Given the description of an element on the screen output the (x, y) to click on. 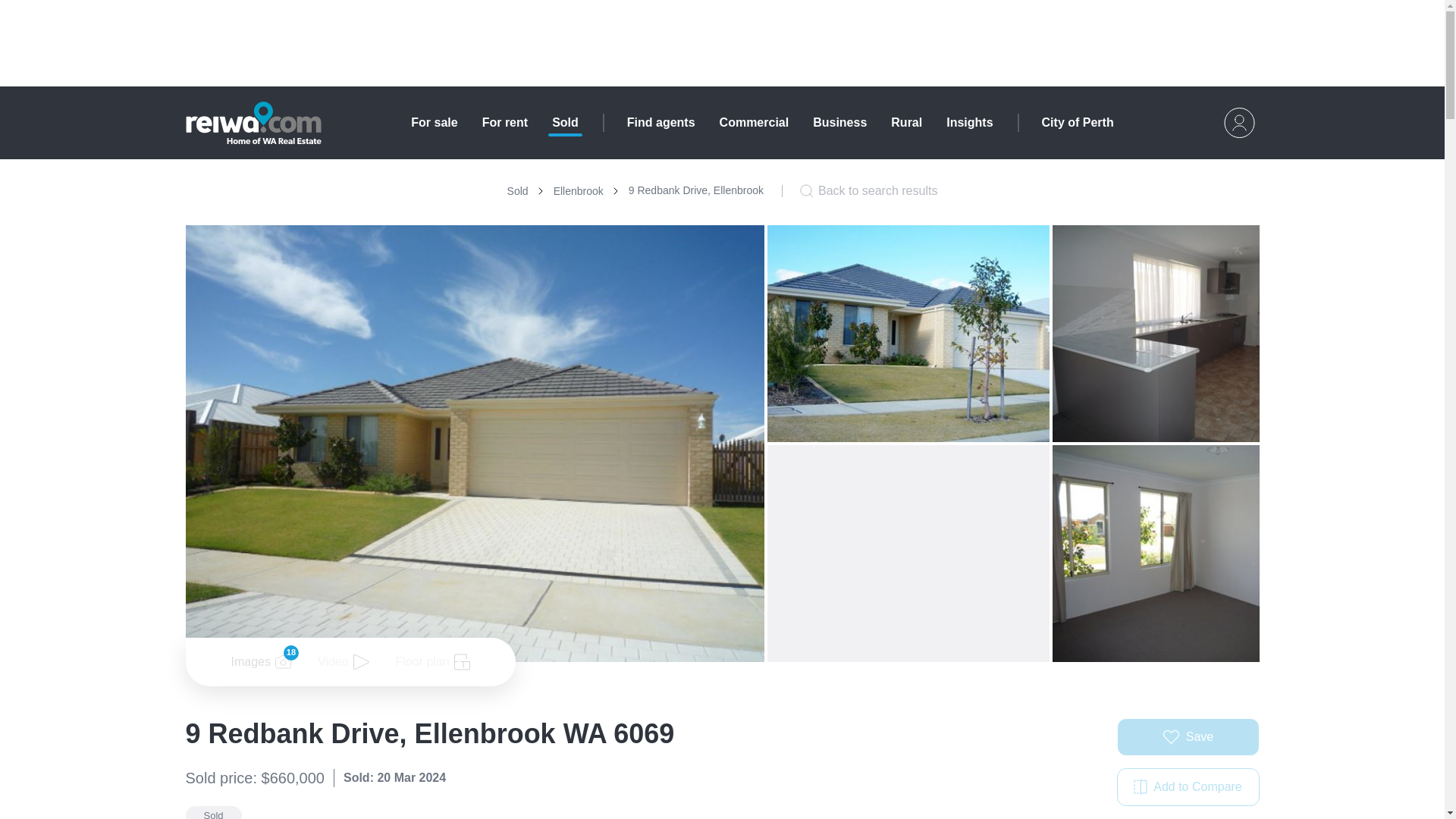
Rural (906, 122)
Back to search results (868, 190)
City of Perth (1077, 122)
Find agents (661, 122)
For sale (433, 122)
Ellenbrook (643, 190)
Add to Compare (578, 191)
For rent (1187, 786)
Business (504, 122)
Sold (839, 122)
Insights (517, 191)
Floor plan (969, 122)
Video (433, 661)
